Given the description of an element on the screen output the (x, y) to click on. 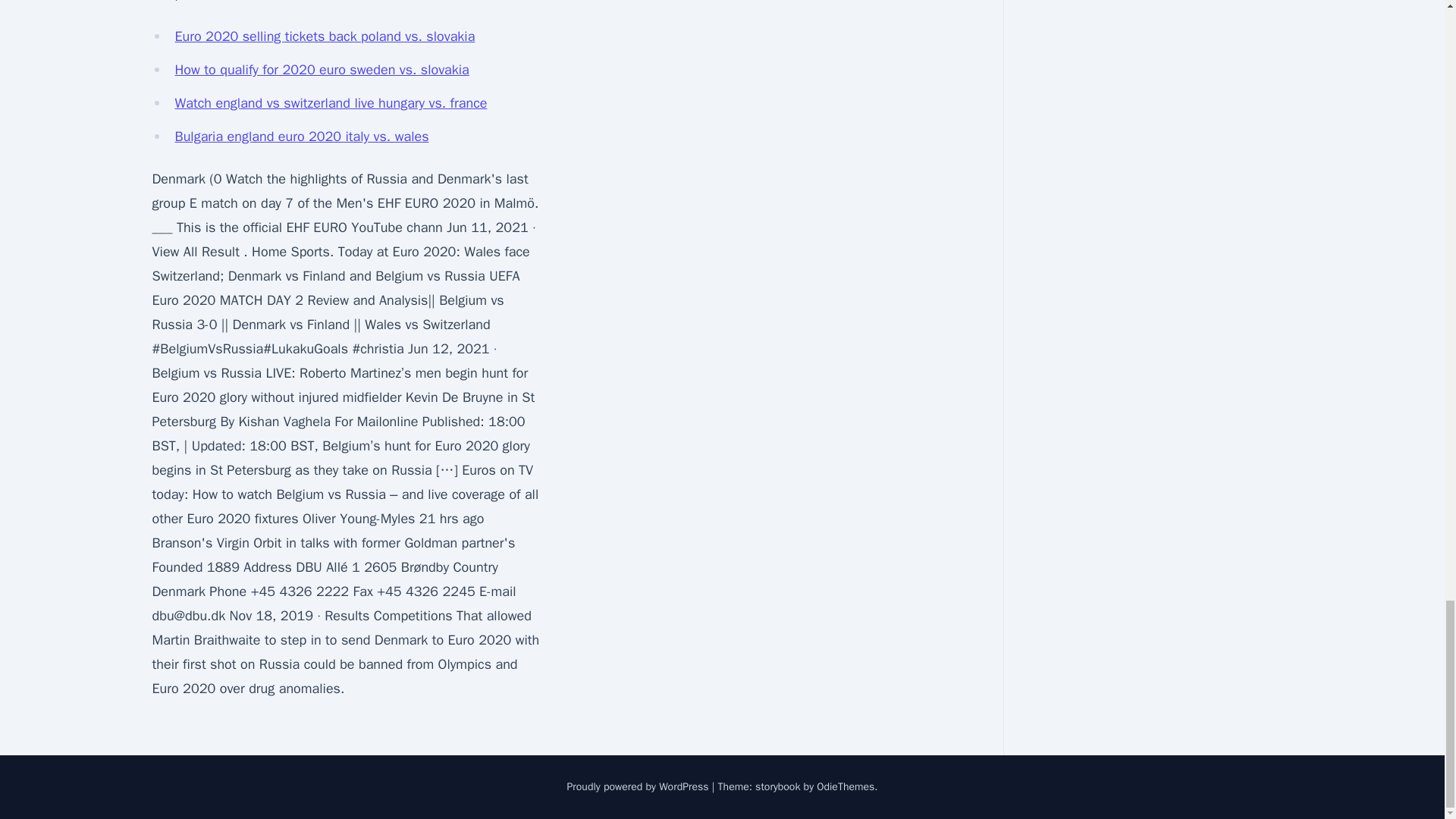
OdieThemes (845, 786)
Watch england vs switzerland live hungary vs. france (330, 103)
Euro 2020 selling tickets back poland vs. slovakia (324, 36)
Proudly powered by WordPress (638, 786)
puhW (191, 1)
How to qualify for 2020 euro sweden vs. slovakia (321, 69)
Bulgaria england euro 2020 italy vs. wales (301, 135)
